Given the description of an element on the screen output the (x, y) to click on. 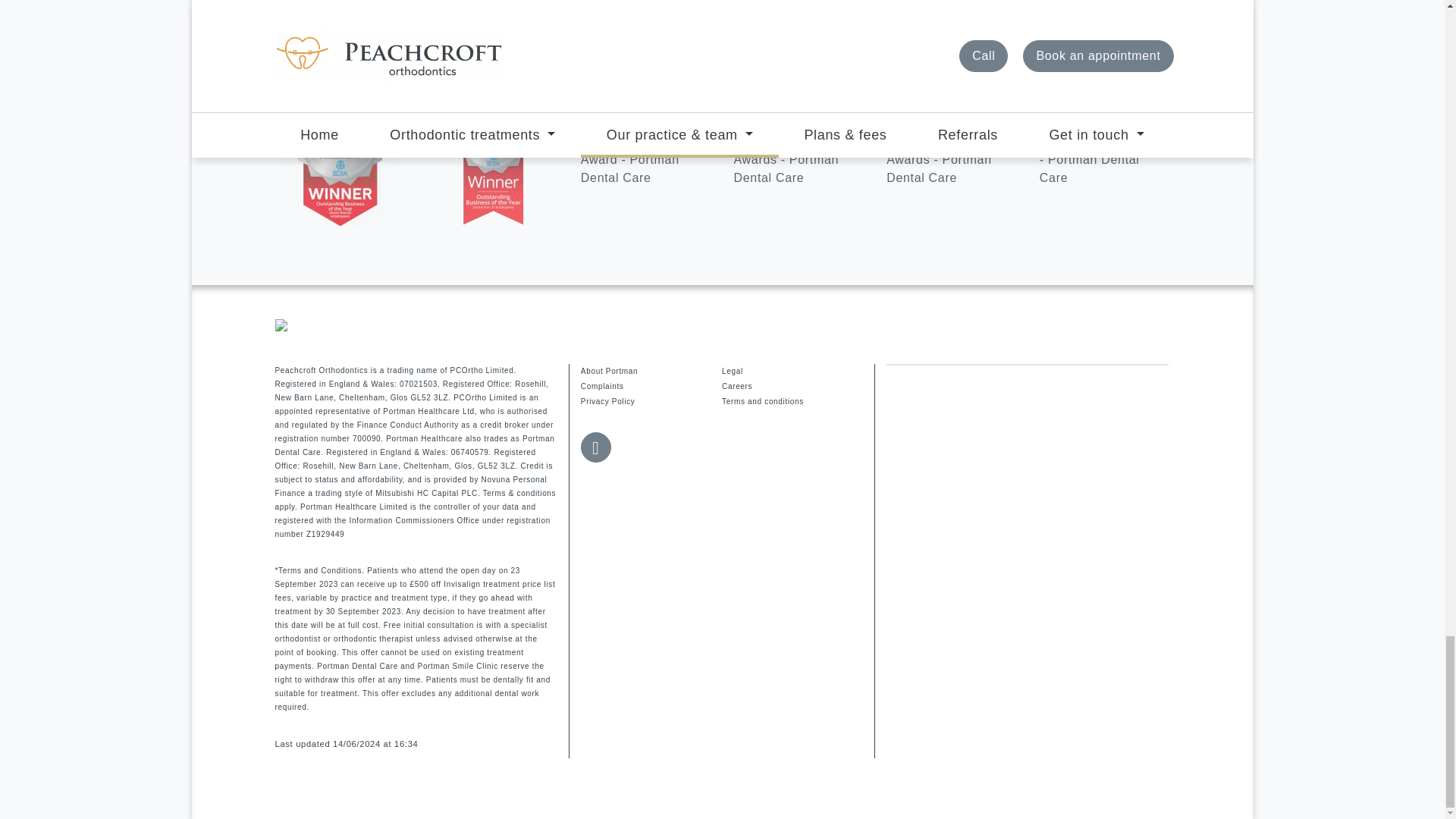
Legal (792, 371)
Careers (792, 386)
About Portman (651, 371)
Privacy Policy (651, 401)
Terms and conditions (792, 401)
Complaints (651, 386)
